Given the description of an element on the screen output the (x, y) to click on. 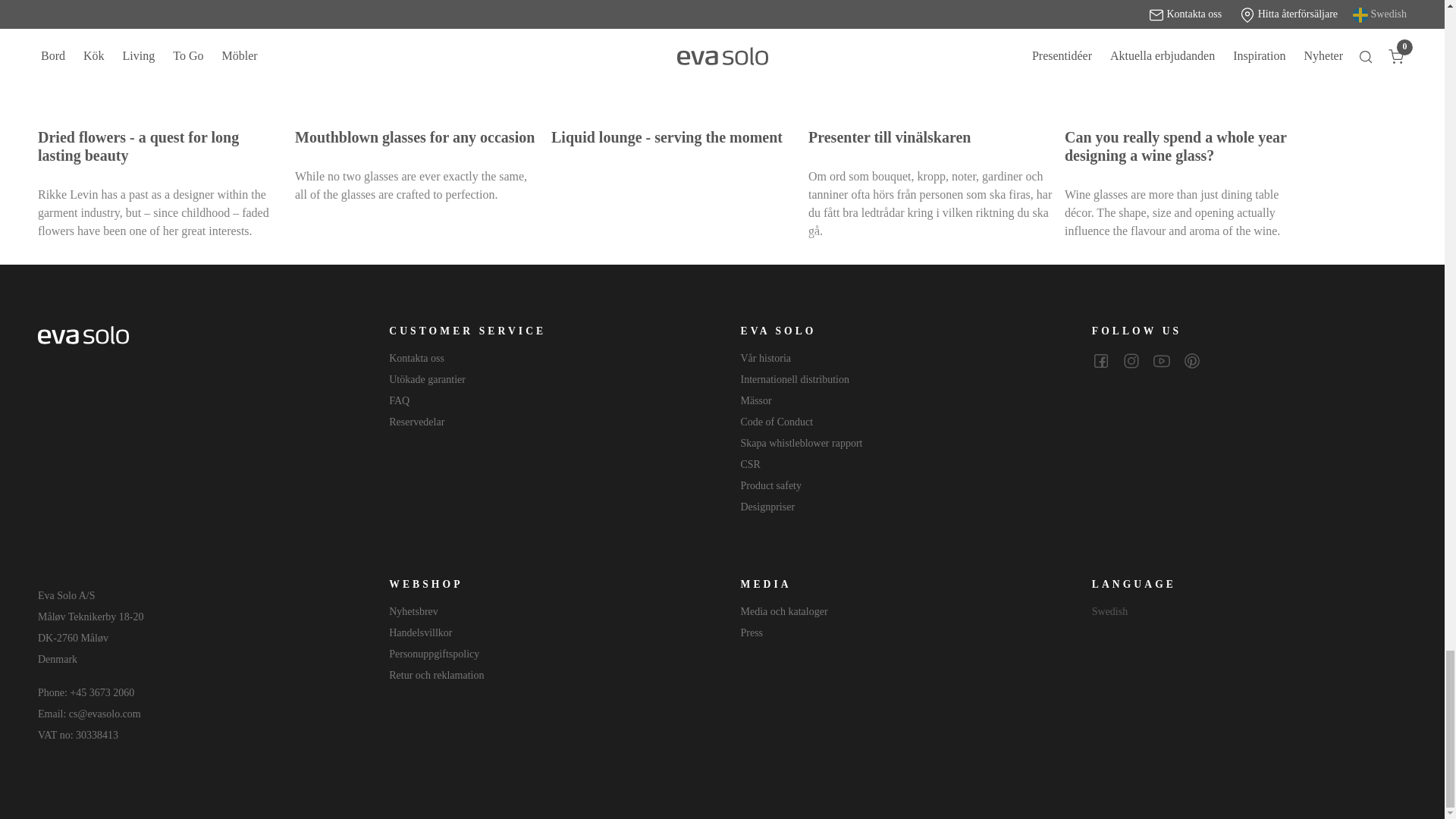
Go to slide 5 (705, 234)
Go to slide 1 (571, 234)
Go to slide 7 (772, 234)
Go to slide 8 (805, 234)
Go to slide 10 (872, 234)
Go to slide 3 (638, 234)
Mouthblown glasses for any occasion (417, 56)
Go to slide 4 (671, 234)
Liquid lounge - serving the moment (673, 56)
Go to slide 2 (604, 234)
Dried flowers - a quest for long lasting beauty (159, 56)
Go to slide 9 (839, 234)
Go to slide 6 (738, 234)
Can you really spend a whole year designing a wine glass? (1186, 56)
